Given the description of an element on the screen output the (x, y) to click on. 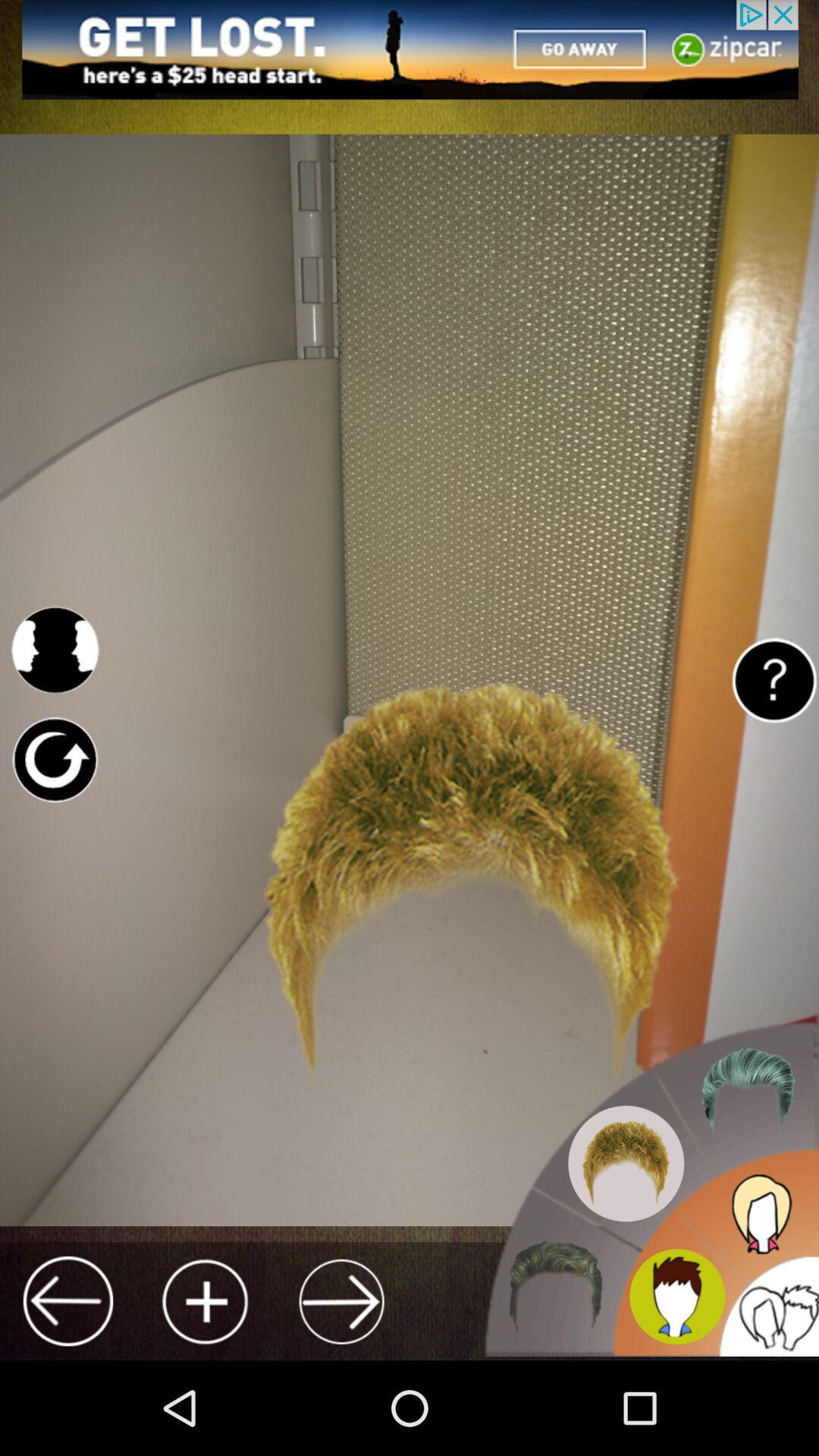
click advertisement (409, 49)
